Given the description of an element on the screen output the (x, y) to click on. 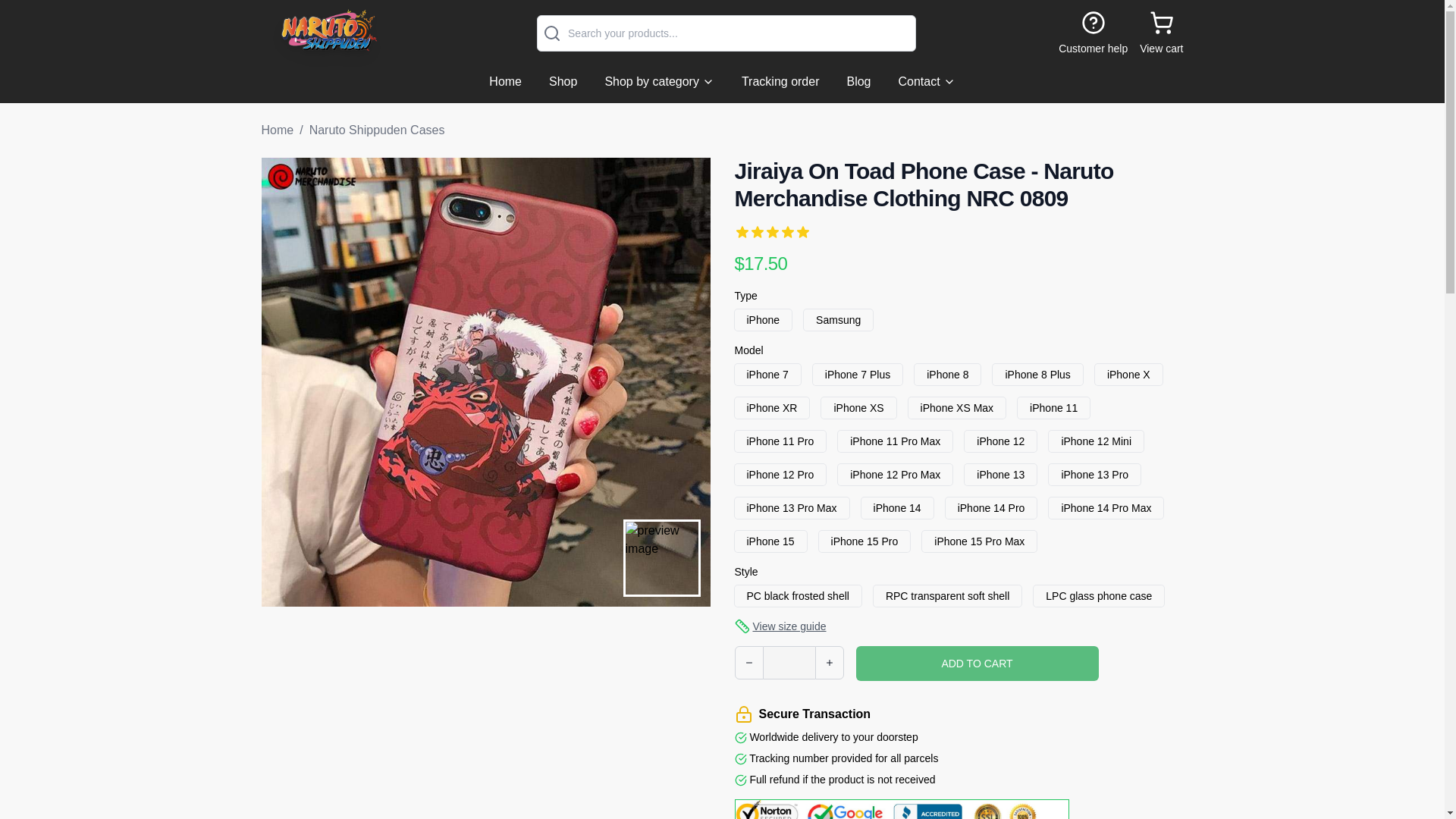
Contact (927, 81)
customer help (1092, 33)
Shop by category (659, 81)
Shop (563, 81)
